Given the description of an element on the screen output the (x, y) to click on. 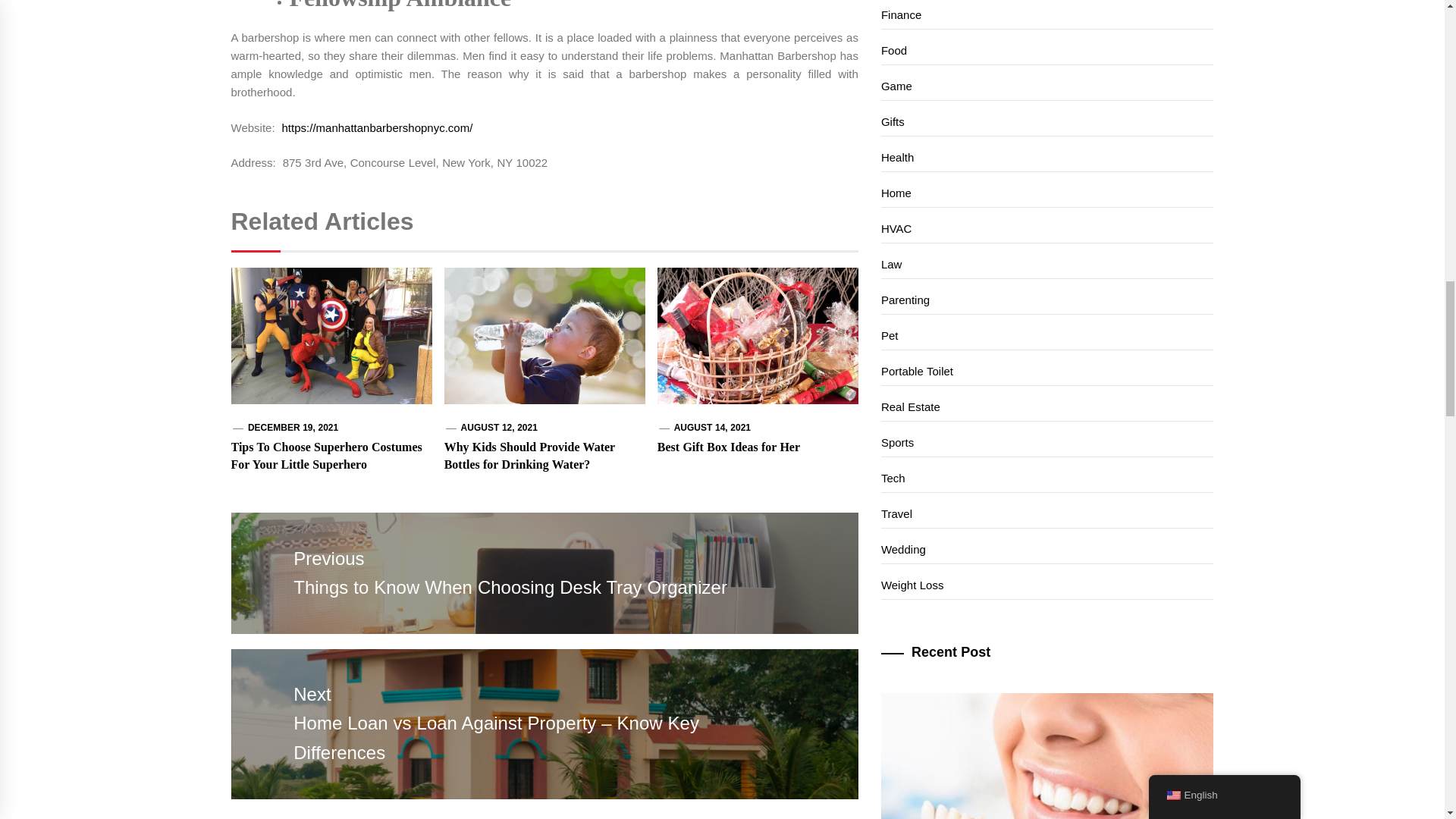
DECEMBER 19, 2021 (292, 427)
AUGUST 14, 2021 (712, 427)
Why Kids Should Provide Water Bottles for Drinking Water? (529, 455)
AUGUST 12, 2021 (499, 427)
Tips To Choose Superhero Costumes For Your Little Superhero (326, 455)
Best Gift Box Ideas for Her (728, 446)
